Given the description of an element on the screen output the (x, y) to click on. 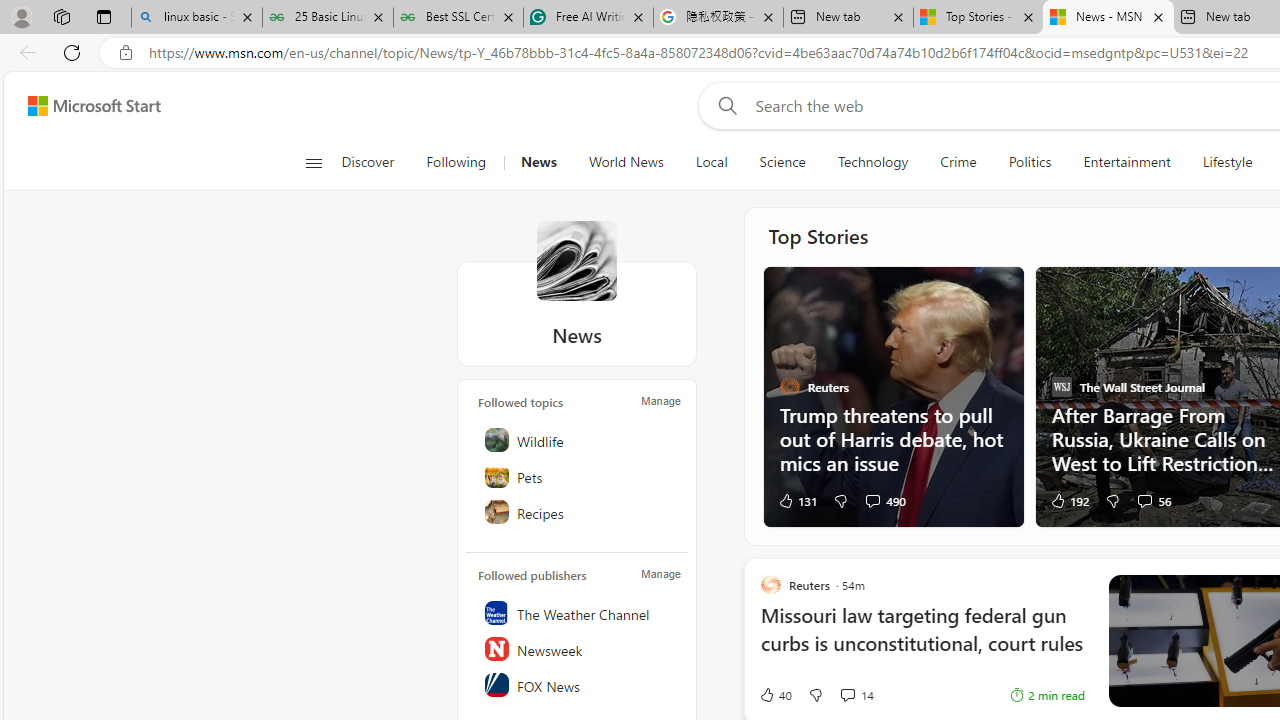
40 Like (775, 695)
View comments 14 Comment (847, 694)
